Given the description of an element on the screen output the (x, y) to click on. 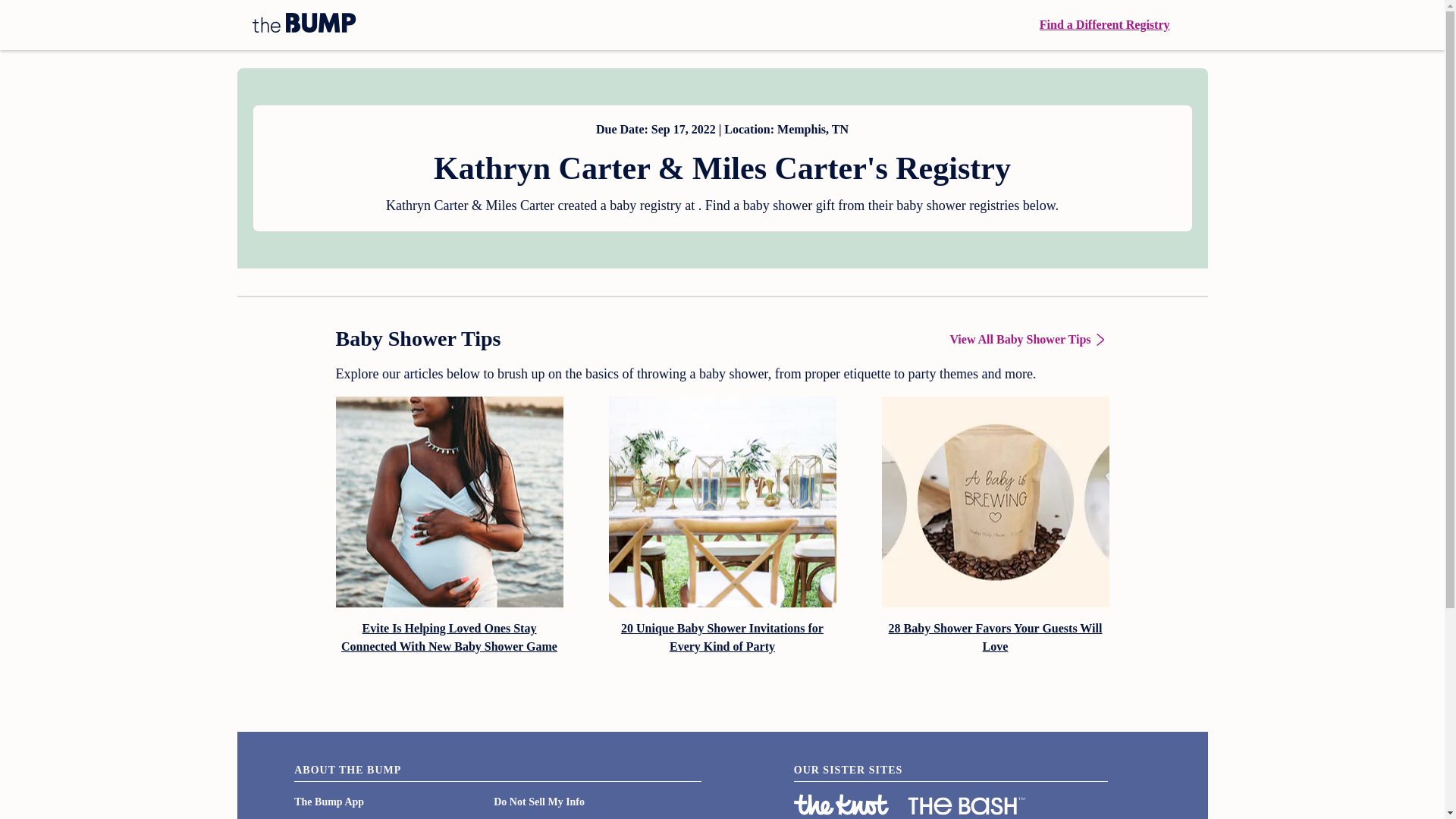
Do Not Sell My Info (539, 801)
View All Baby Shower Tips (1028, 339)
Find a Different Registry (1104, 24)
The Bump App (329, 801)
